Given the description of an element on the screen output the (x, y) to click on. 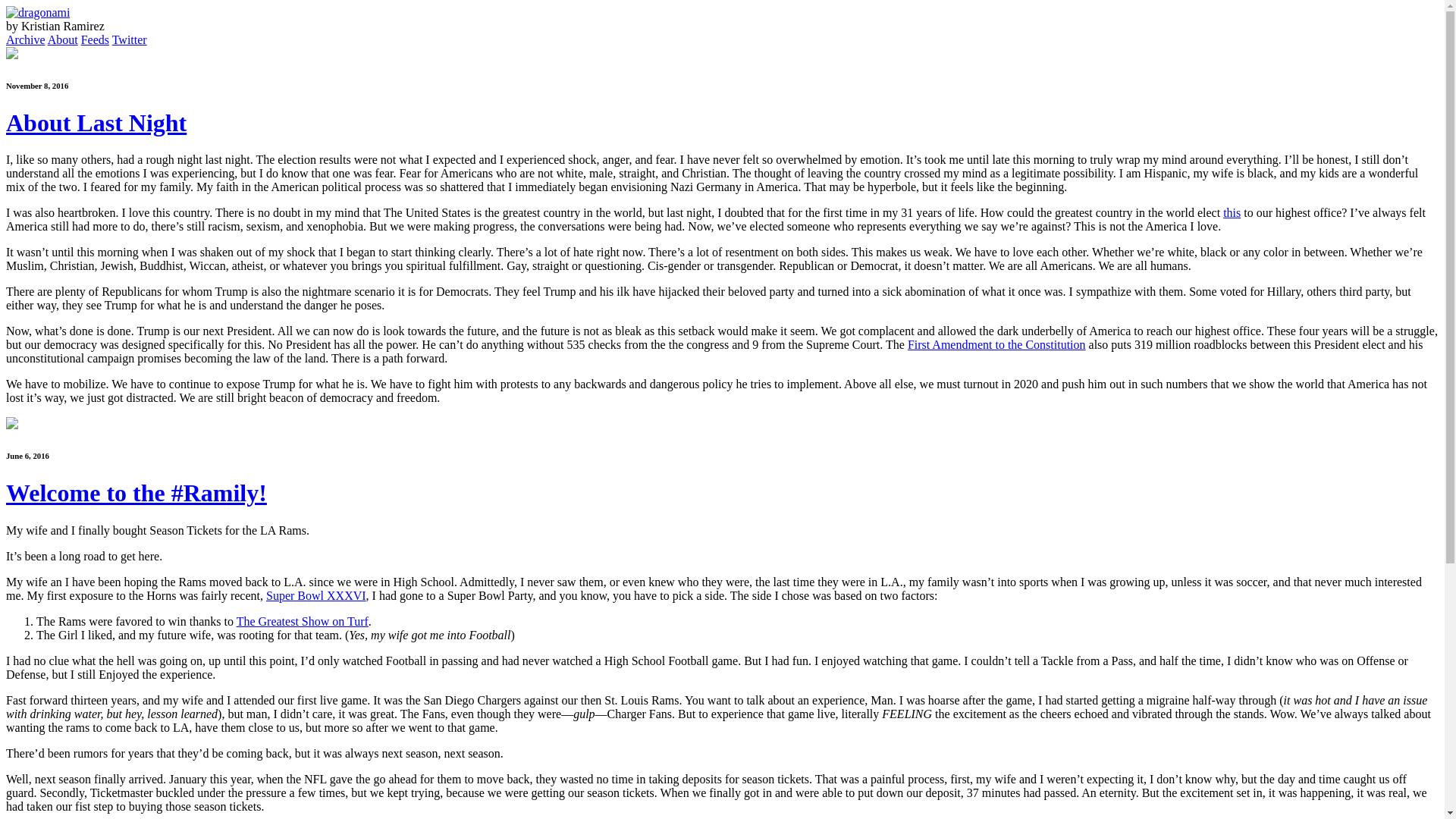
Super Bowl XXXVI (316, 594)
Feeds (95, 39)
First Amendment to the Constitution (996, 344)
Archive (25, 39)
The Greatest Show on Turf (301, 621)
this (1231, 212)
Twitter (129, 39)
About Last Night (95, 122)
About (63, 39)
